Given the description of an element on the screen output the (x, y) to click on. 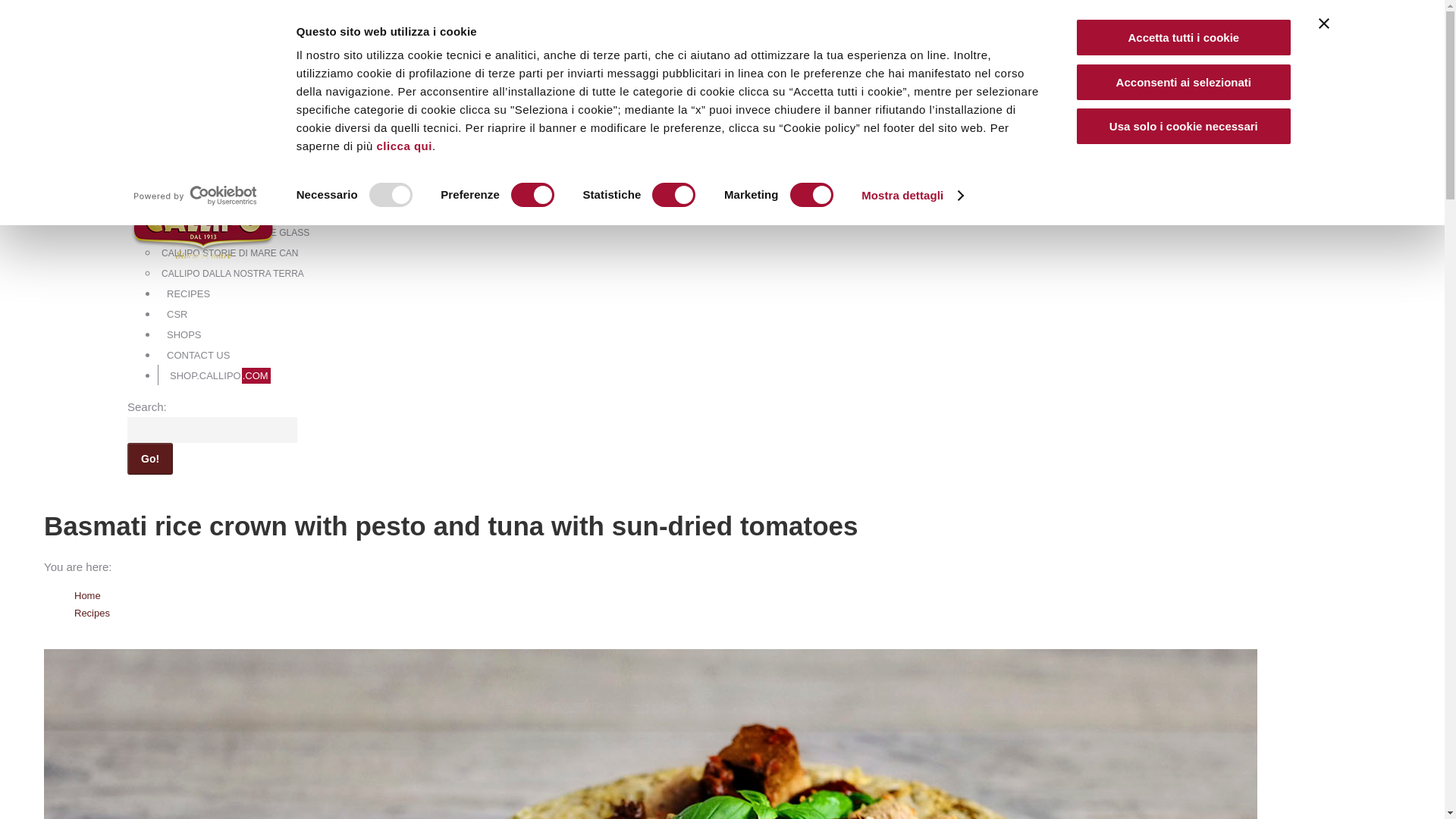
clicca qui (404, 145)
Go! (150, 459)
Usa solo i cookie necessari (1183, 126)
Mostra dettagli (911, 195)
Go! (150, 459)
